Given the description of an element on the screen output the (x, y) to click on. 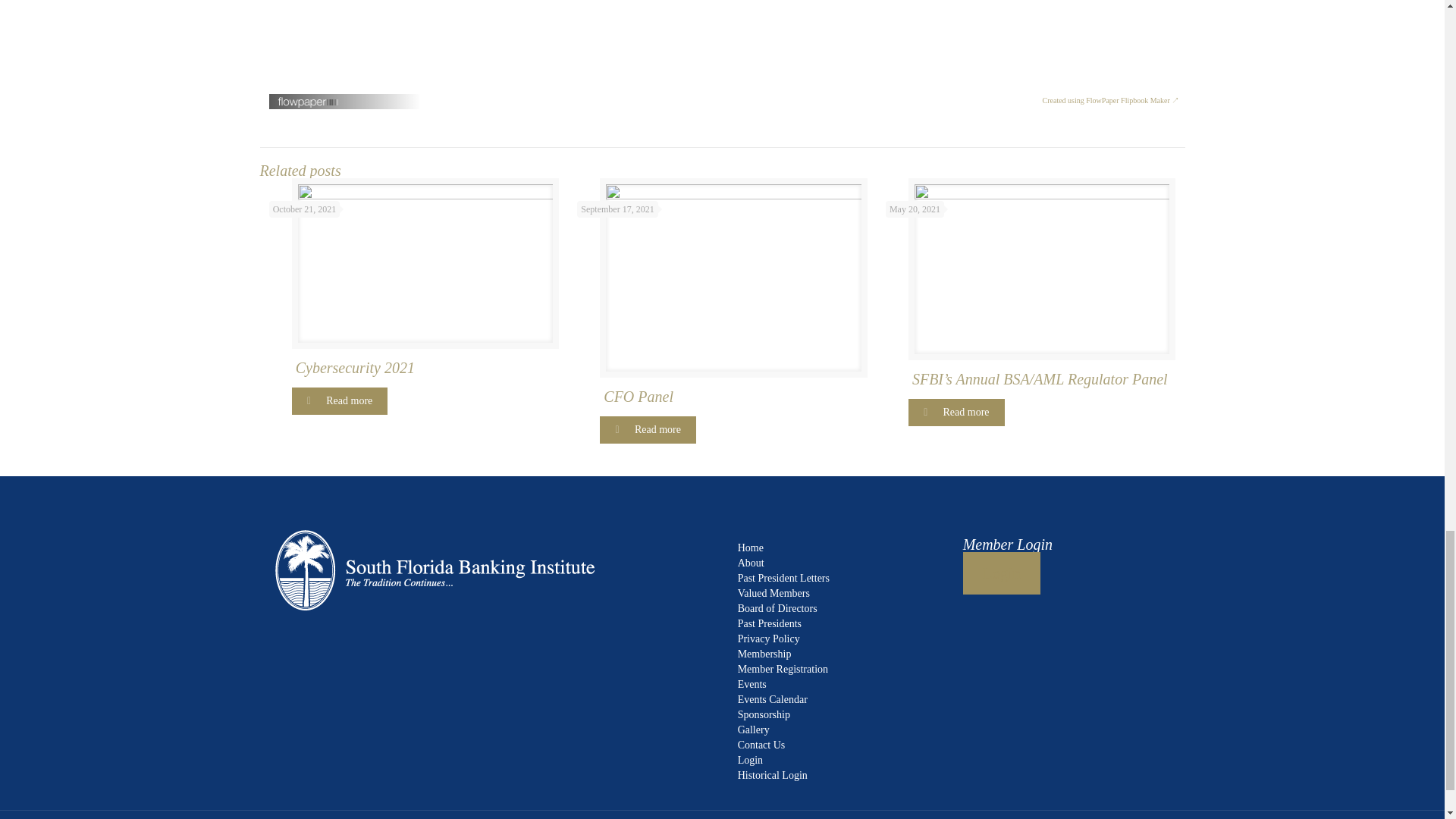
FlowPaper flipbook pdf viewer (722, 47)
Cybersecurity 2021 (427, 367)
FlowPaper logotype (309, 104)
